Given the description of an element on the screen output the (x, y) to click on. 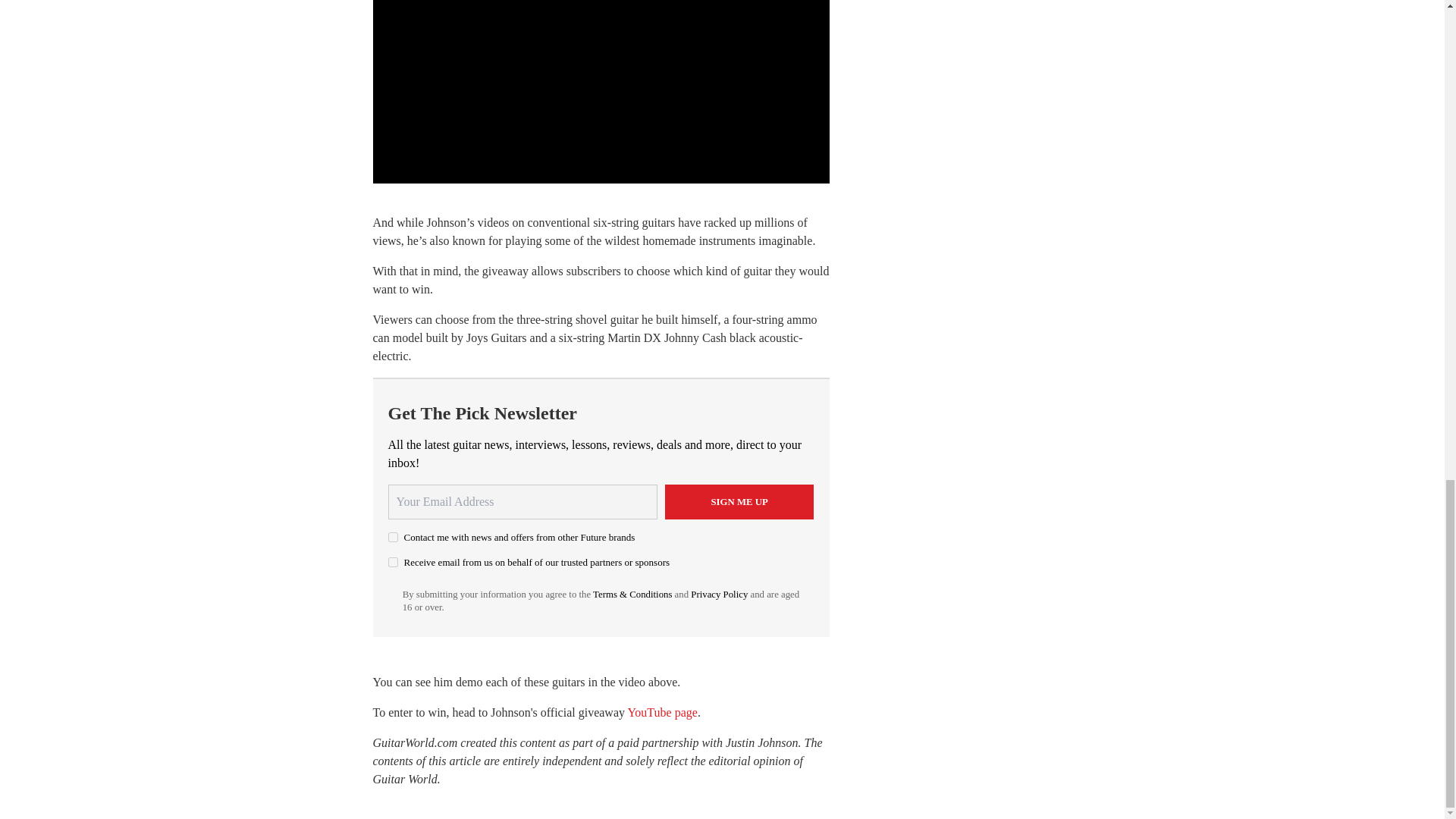
on (392, 562)
Privacy Policy (719, 593)
Sign me up (739, 501)
Sign me up (739, 501)
on (392, 537)
